Given the description of an element on the screen output the (x, y) to click on. 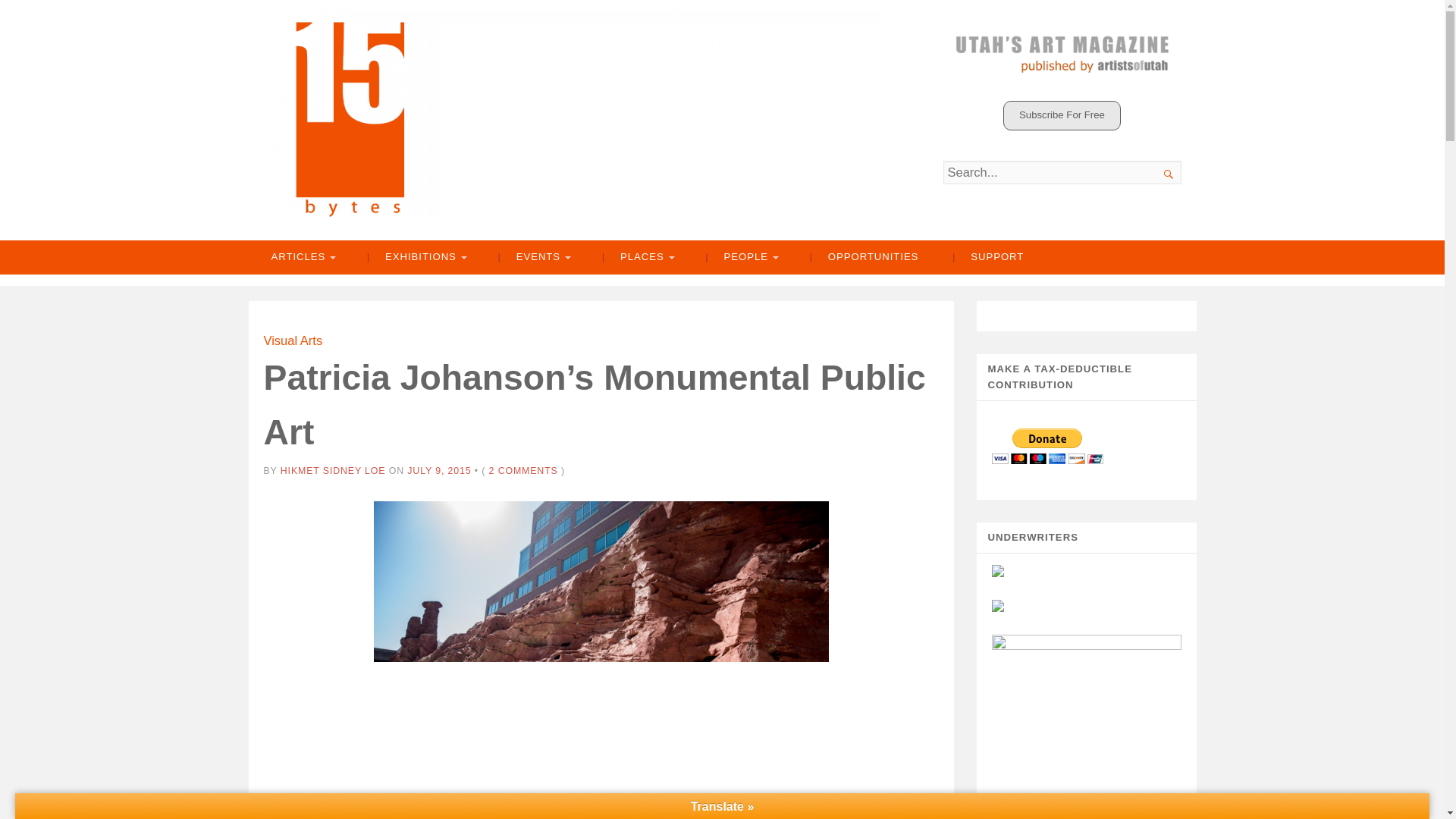
OPPORTUNITIES (864, 257)
HIKMET SIDNEY LOE (333, 470)
Subscribe For Free (1062, 114)
SUPPORT (988, 257)
Visual Arts (293, 340)
JULY 9, 2015 (438, 470)
2 COMMENTS (523, 470)
PEOPLE (740, 257)
EXHIBITIONS (415, 257)
EVENTS (532, 257)
PayPal - The safer, easier way to pay online! (1047, 446)
Artists of Utah's 15 Bytes (576, 114)
2:57 pm (438, 470)
View all posts by Hikmet Sidney Loe (333, 470)
PLACES (636, 257)
